Given the description of an element on the screen output the (x, y) to click on. 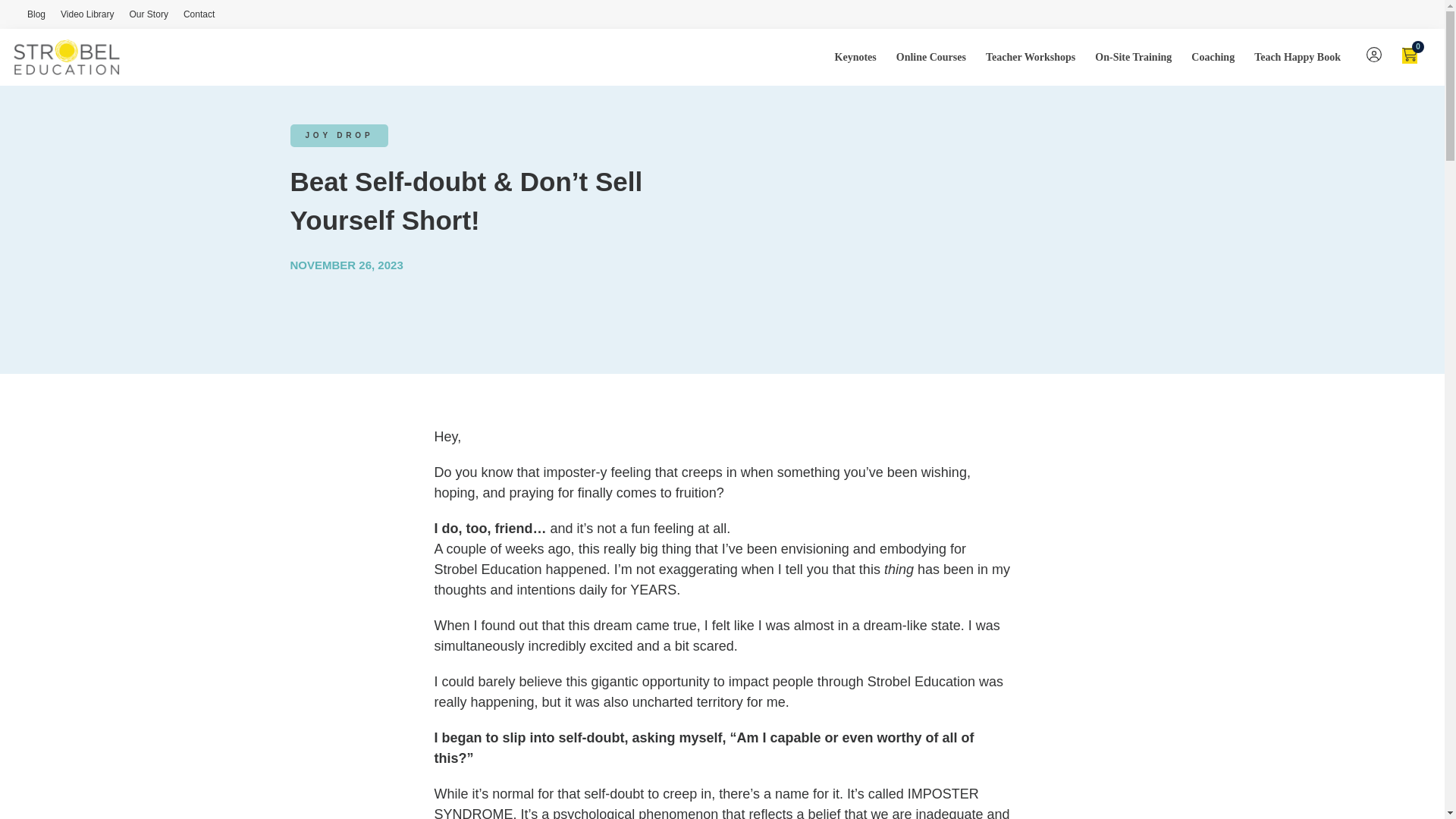
Blog (36, 14)
Keynotes (857, 56)
Contact (198, 14)
Online Courses (933, 56)
Our Story (148, 14)
Video Library (88, 14)
